Given the description of an element on the screen output the (x, y) to click on. 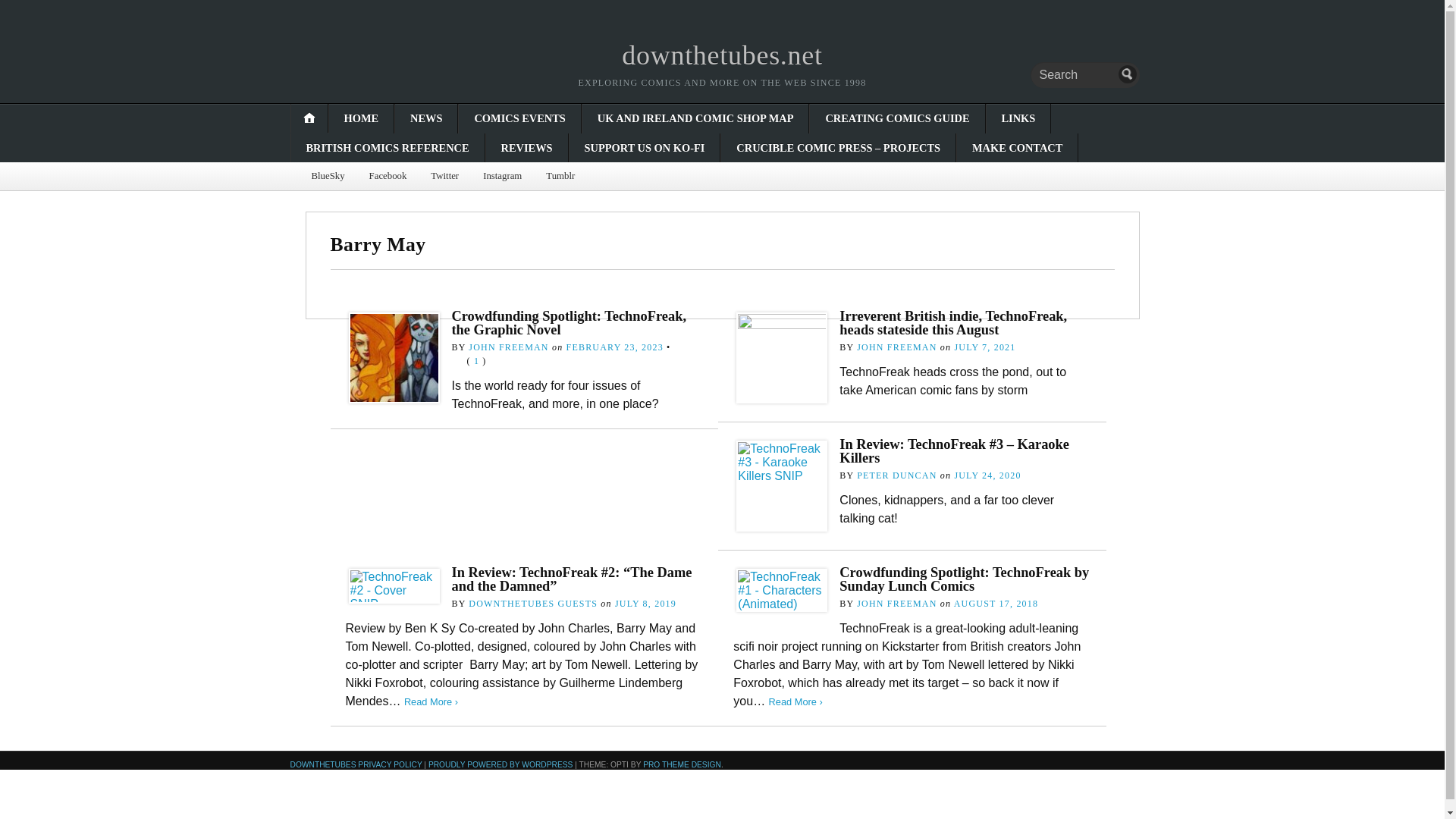
9:34 am (614, 347)
3:24 pm (645, 603)
NEWS (425, 118)
CREATING COMICS GUIDE (896, 118)
View all posts by downthetubes Guests (532, 603)
Home (721, 55)
View all posts by Peter Duncan (896, 475)
10:15 am (986, 475)
HOME (361, 118)
UK AND IRELAND COMIC SHOP MAP (695, 118)
COMICS EVENTS (518, 118)
LINKS (1017, 118)
11:16 pm (983, 347)
View all posts by John Freeman (896, 347)
View all posts by John Freeman (508, 347)
